Given the description of an element on the screen output the (x, y) to click on. 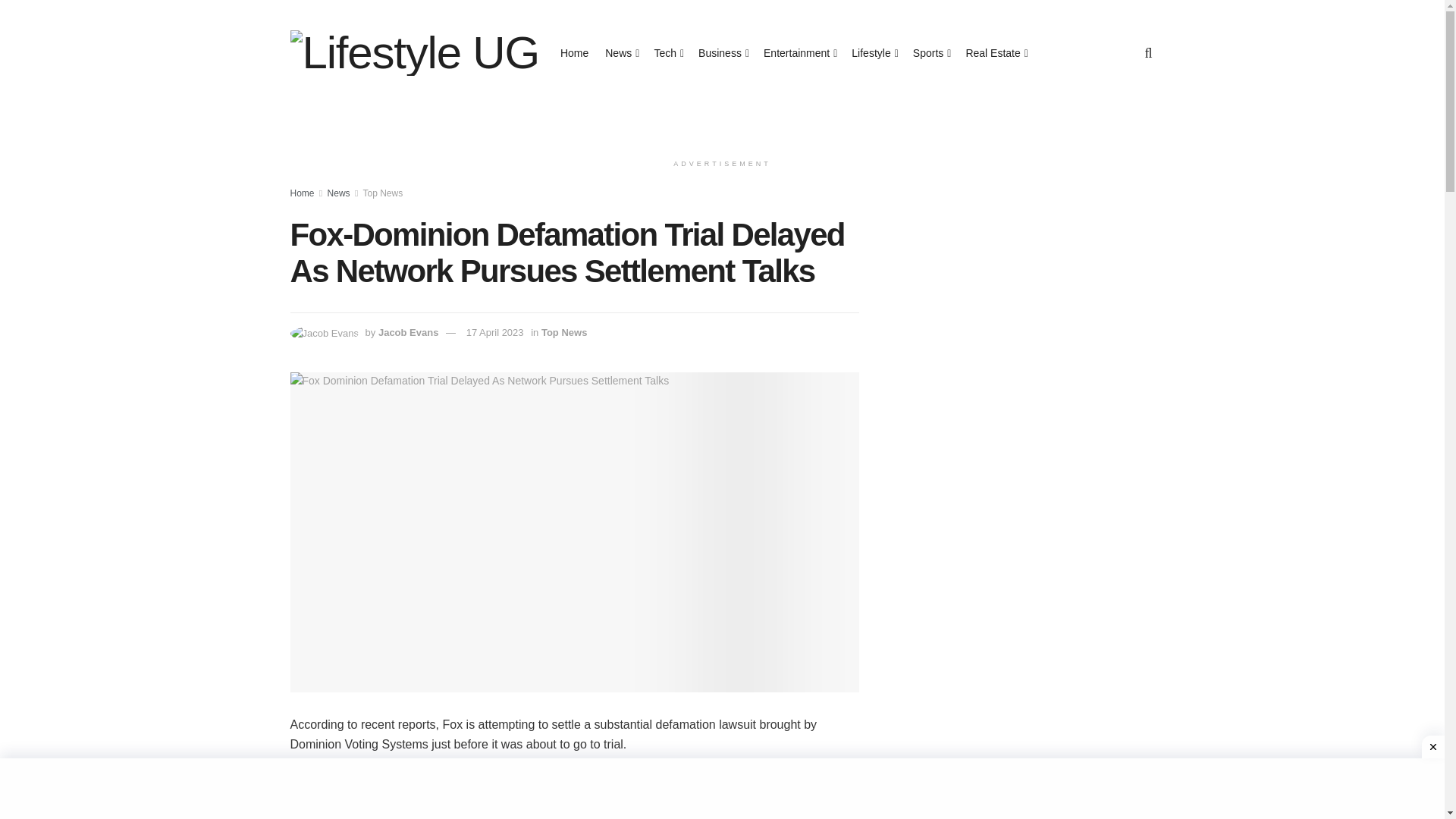
Lifestyle (873, 52)
News (621, 52)
Top News (382, 193)
Home (574, 52)
Tech (667, 52)
17 April 2023 (494, 332)
Sports (930, 52)
News (338, 193)
Business (722, 52)
Top News (563, 332)
